Given the description of an element on the screen output the (x, y) to click on. 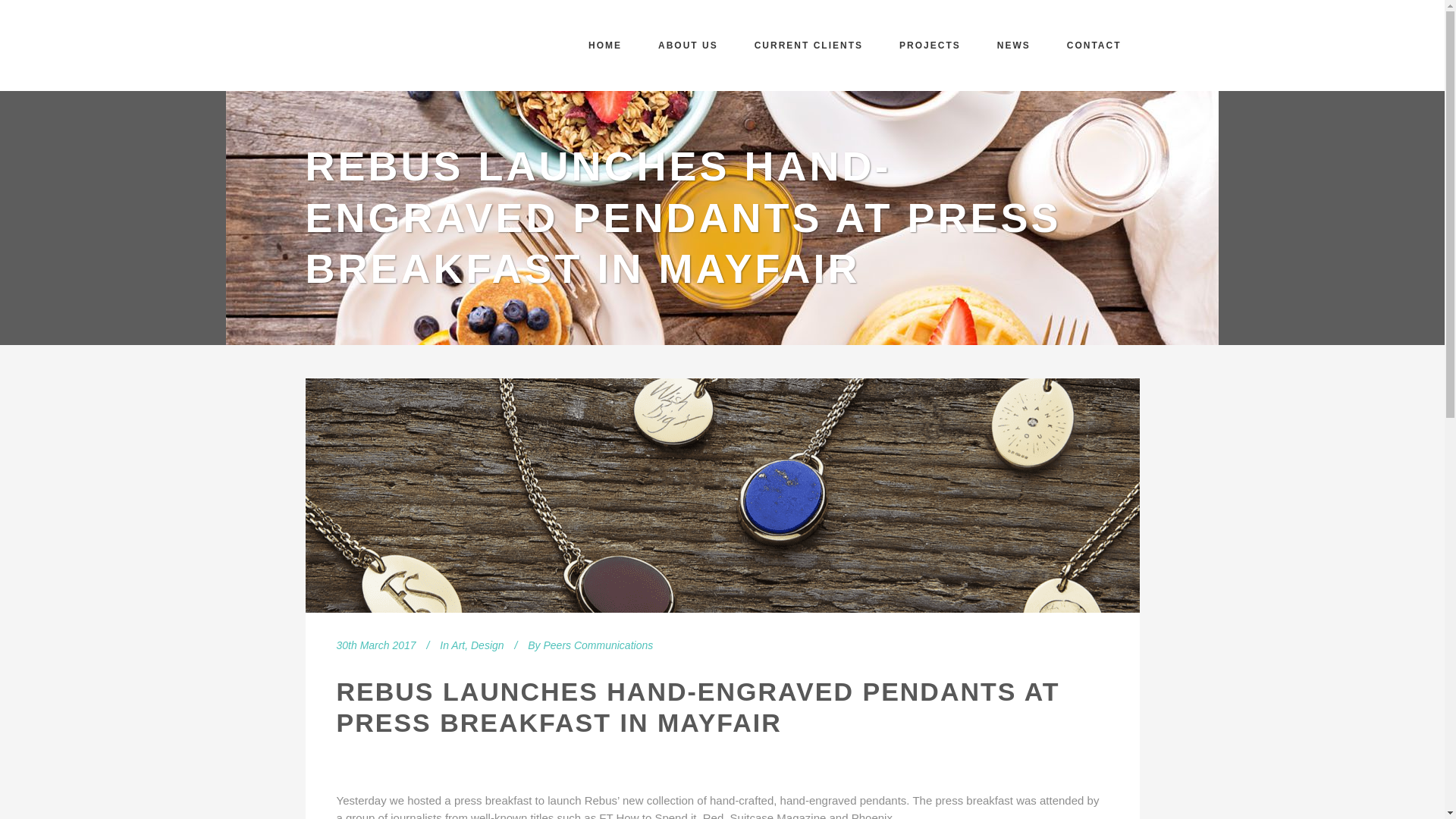
Design (486, 645)
ABOUT US (688, 45)
Peers Communications (597, 645)
Art (457, 645)
PROJECTS (929, 45)
CURRENT CLIENTS (808, 45)
CONTACT (1094, 45)
